Given the description of an element on the screen output the (x, y) to click on. 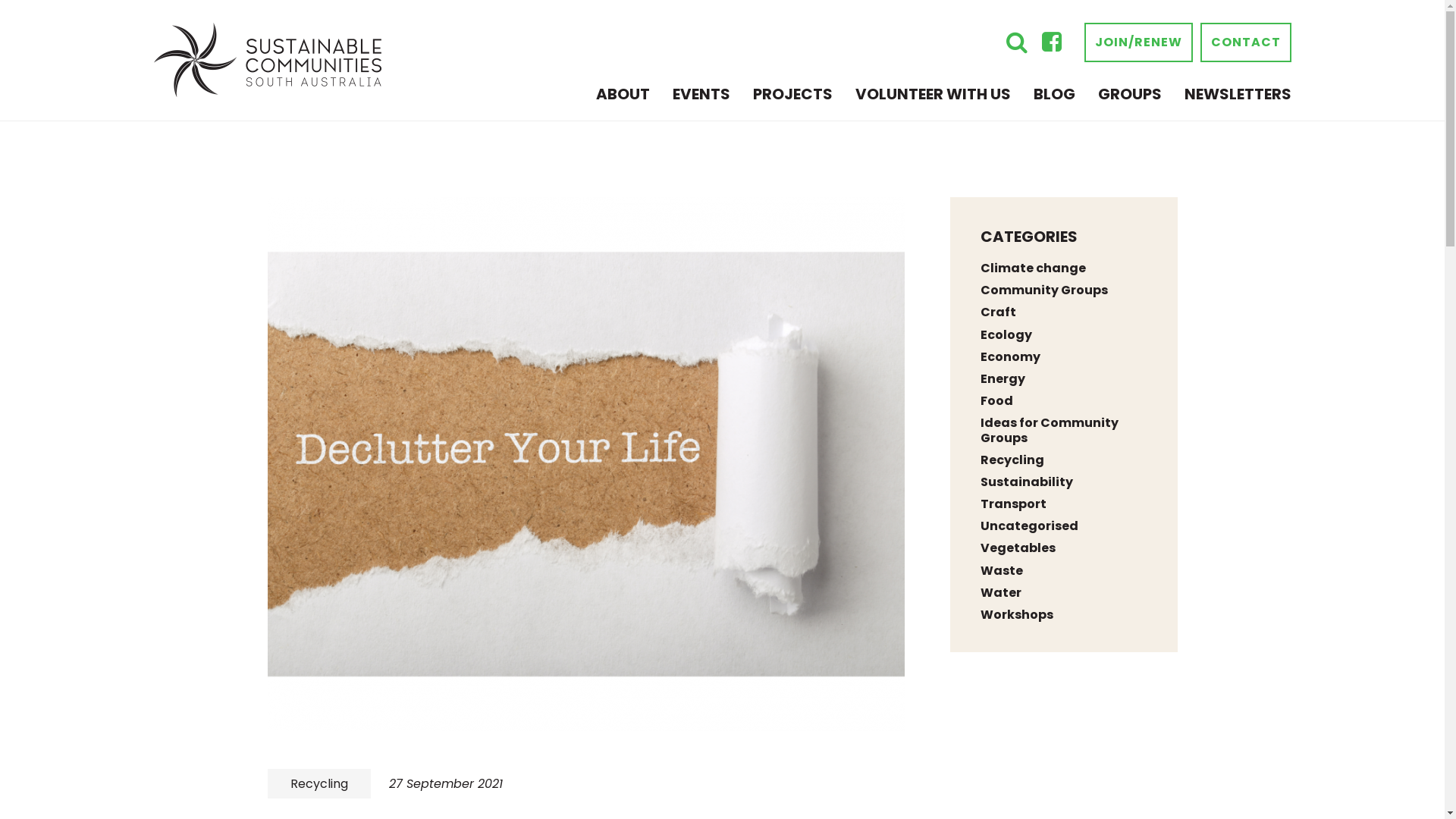
VOLUNTEER WITH US Element type: text (932, 93)
GROUPS Element type: text (1129, 93)
EVENTS Element type: text (700, 93)
Workshops Element type: text (1015, 614)
Uncategorised Element type: text (1028, 525)
Ideas for Community Groups Element type: text (1048, 429)
Energy Element type: text (1001, 378)
Recycling Element type: text (318, 783)
Vegetables Element type: text (1016, 547)
Climate change Element type: text (1032, 267)
Ecology Element type: text (1005, 334)
PROJECTS Element type: text (791, 93)
ABOUT Element type: text (622, 93)
CONTACT Element type: text (1244, 42)
Recycling Element type: text (1011, 459)
JOIN/RENEW Element type: text (1138, 42)
Community Groups Element type: text (1043, 289)
Transport Element type: text (1012, 503)
Sustainability Element type: text (1025, 481)
BLOG Element type: text (1053, 93)
Food Element type: text (995, 400)
Craft Element type: text (997, 311)
NEWSLETTERS Element type: text (1237, 93)
Water Element type: text (999, 592)
Economy Element type: text (1009, 356)
Waste Element type: text (1000, 570)
